Given the description of an element on the screen output the (x, y) to click on. 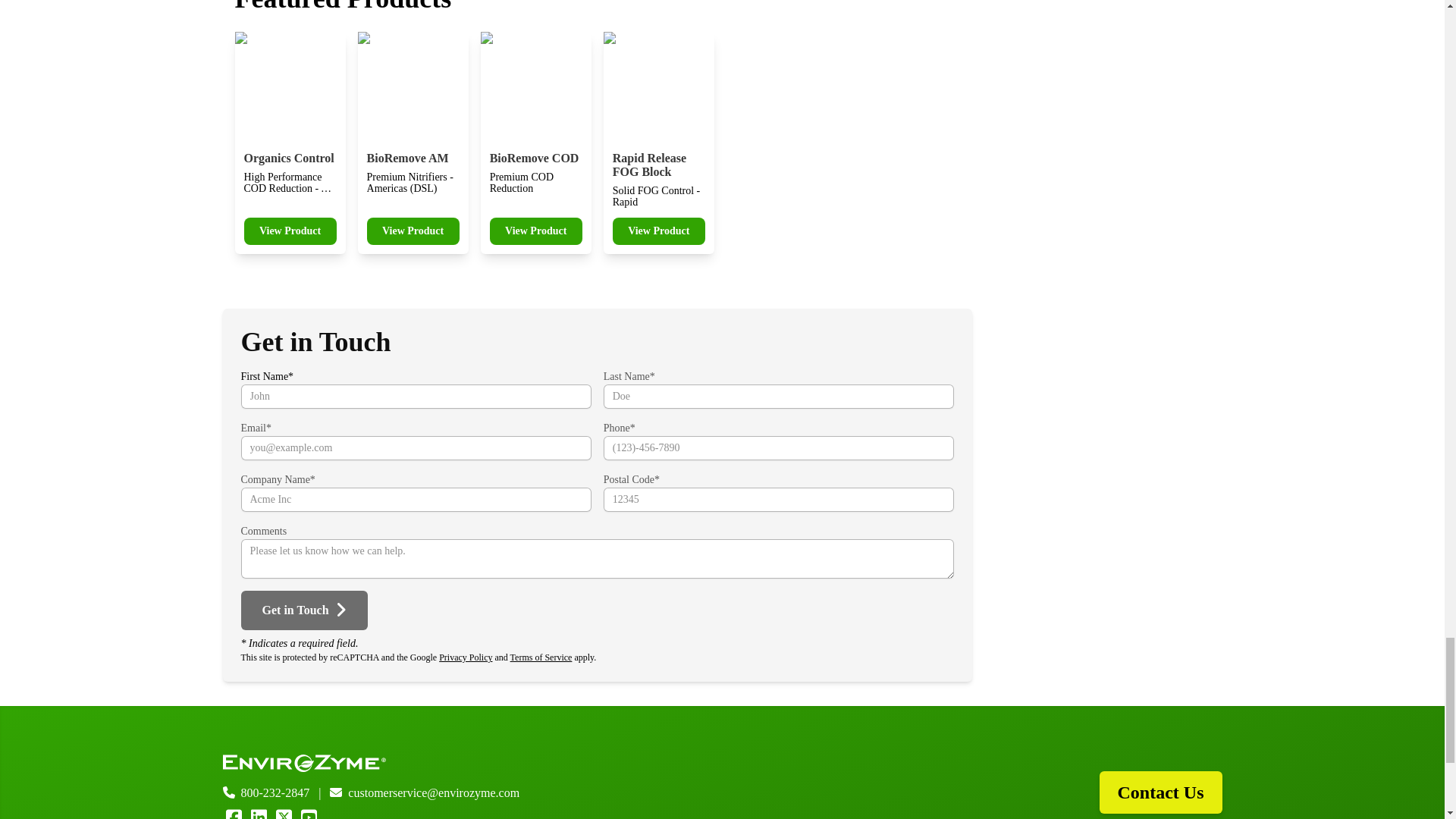
Privacy Policy (465, 656)
Get in Touch (535, 142)
